Given the description of an element on the screen output the (x, y) to click on. 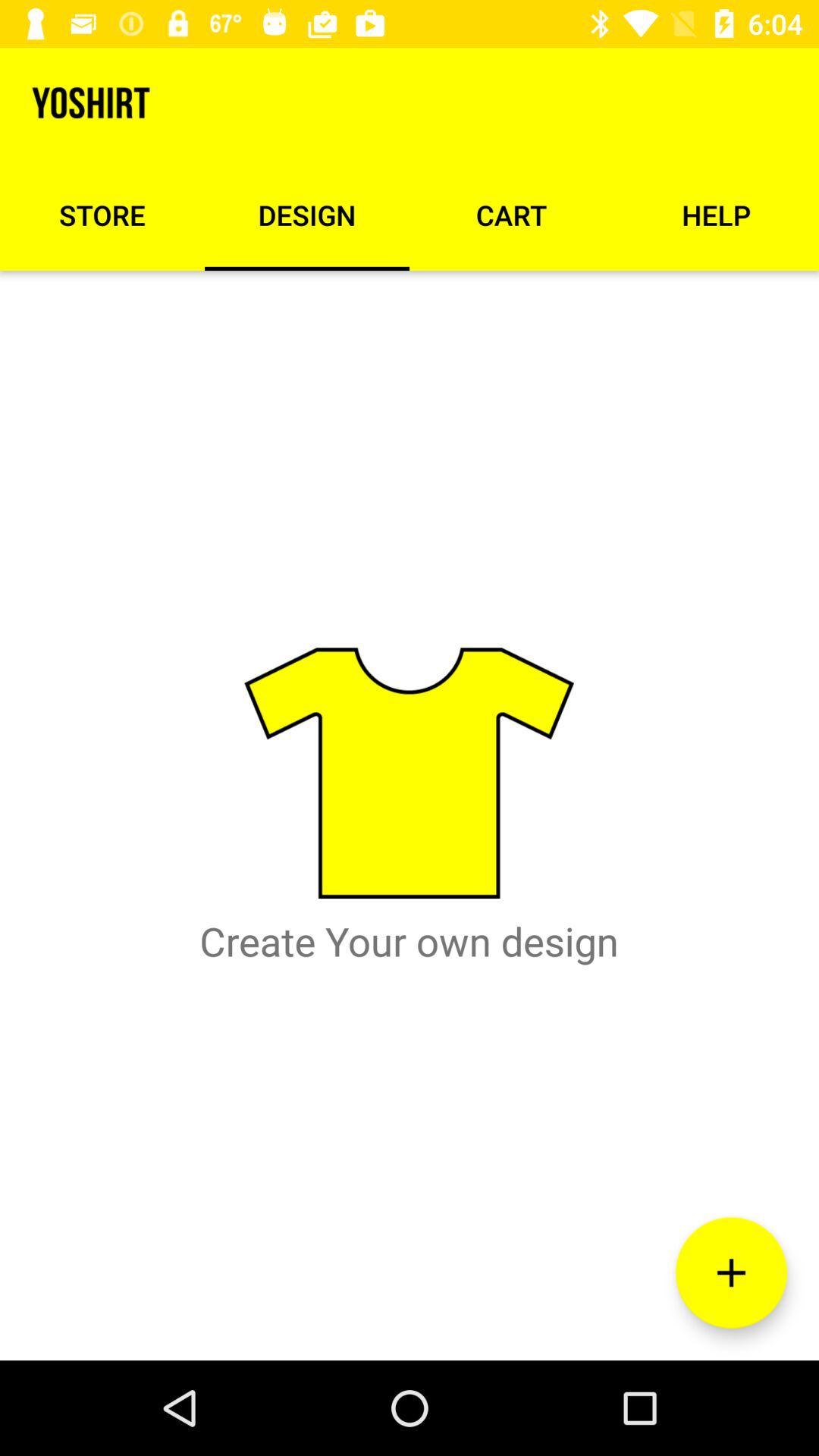
click item below help (731, 1272)
